Given the description of an element on the screen output the (x, y) to click on. 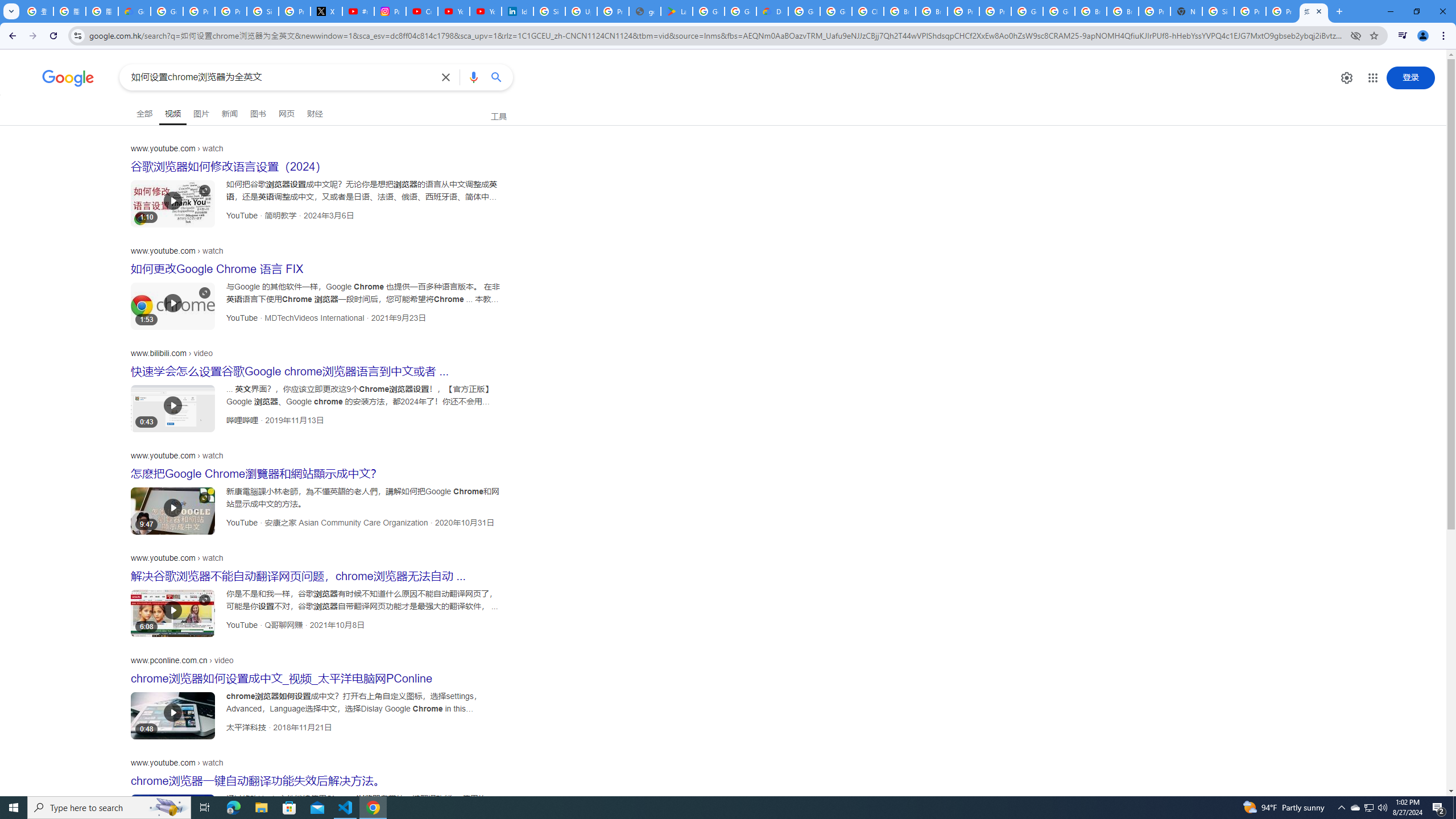
Sign in - Google Accounts (262, 11)
#nbabasketballhighlights - YouTube (358, 11)
Google Cloud Platform (1059, 11)
